Given the description of an element on the screen output the (x, y) to click on. 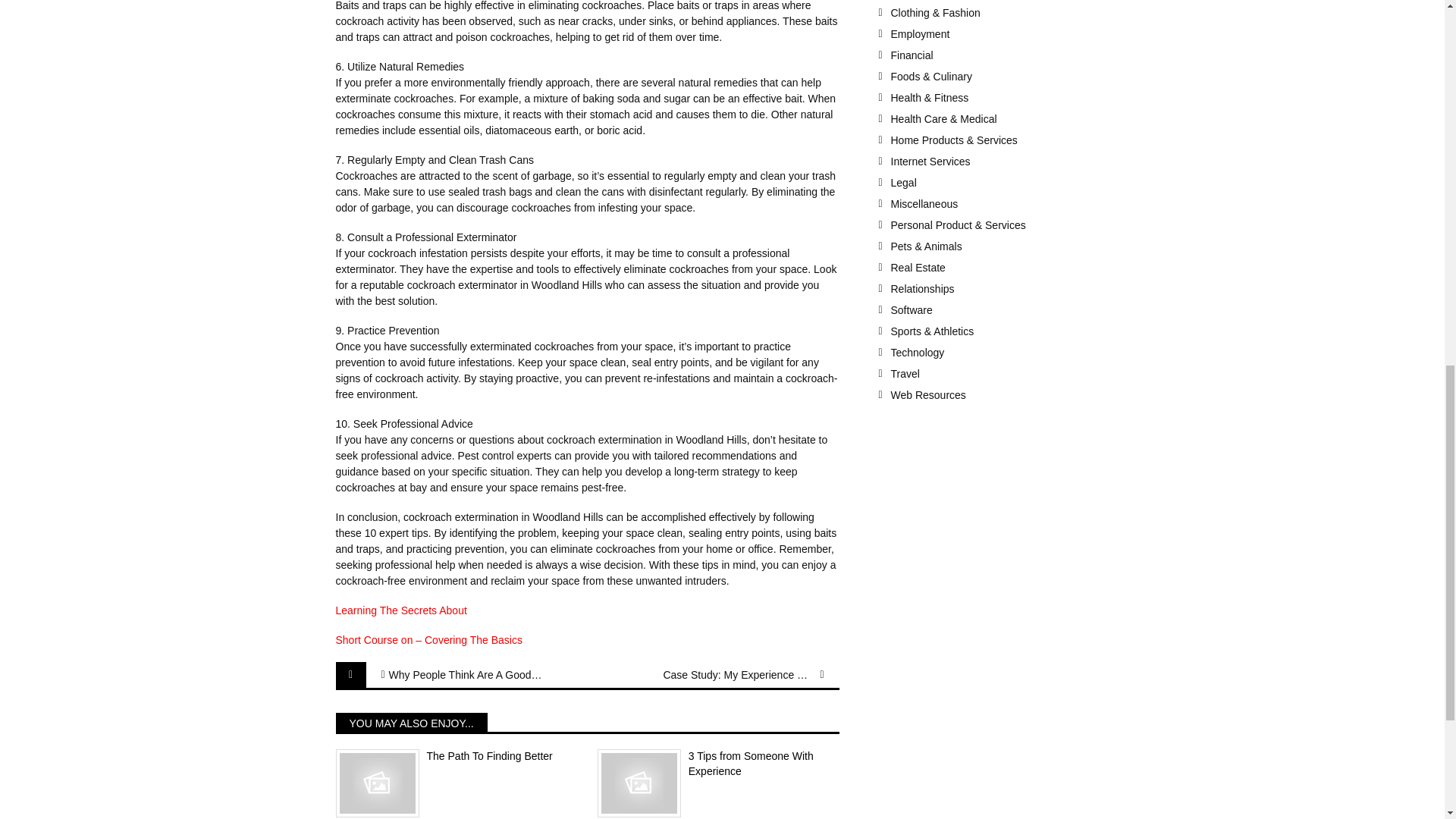
Case Study: My Experience With (739, 674)
3 Tips from Someone With Experience (718, 763)
The Path To Finding Better (455, 756)
Employment (998, 33)
Why People Think Are A Good Idea (464, 674)
Financial (998, 55)
Learning The Secrets About (399, 610)
